Given the description of an element on the screen output the (x, y) to click on. 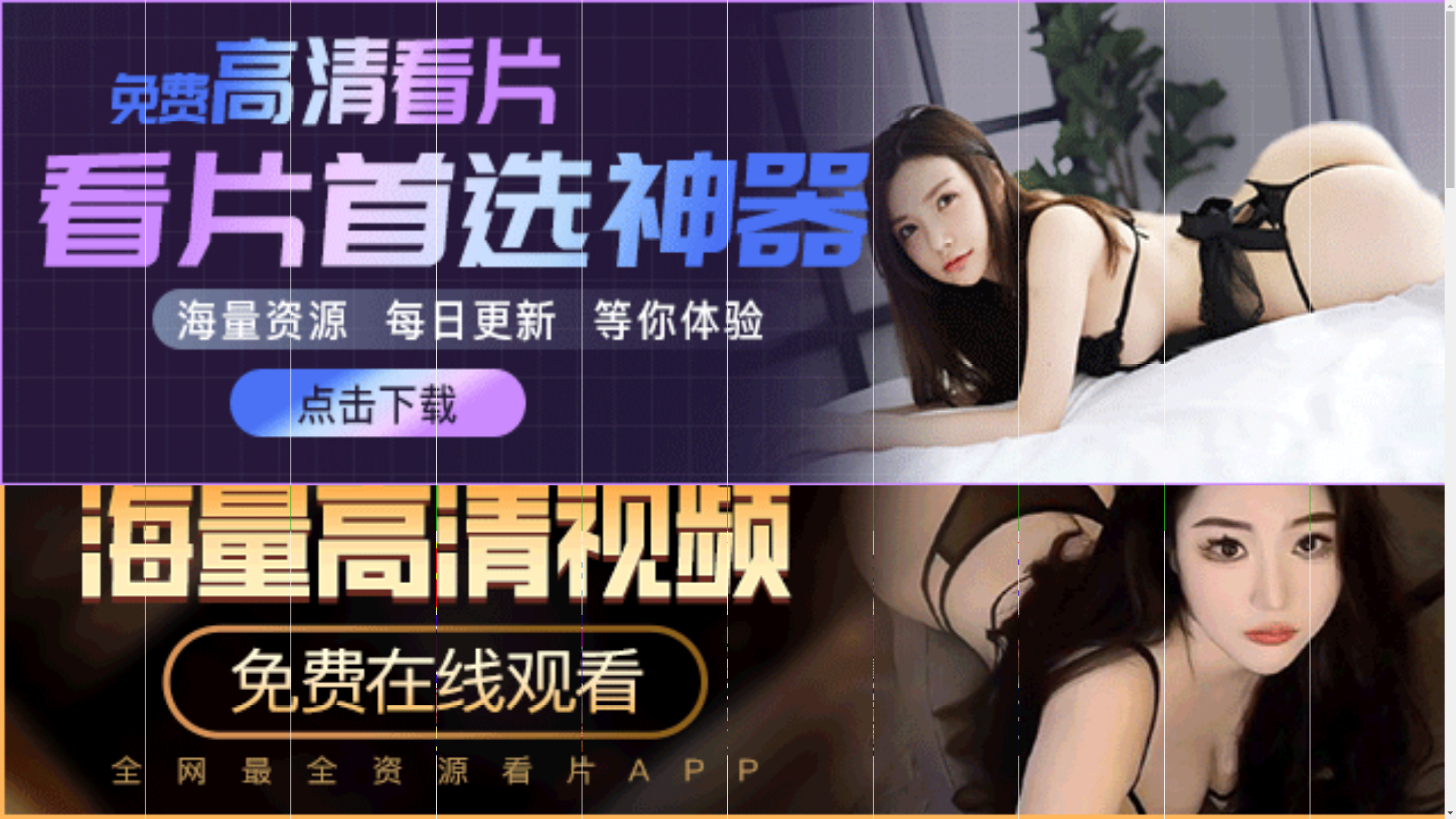
www.xmkk5.com Element type: text (693, 515)
1m21.Com Element type: text (411, 503)
